Given the description of an element on the screen output the (x, y) to click on. 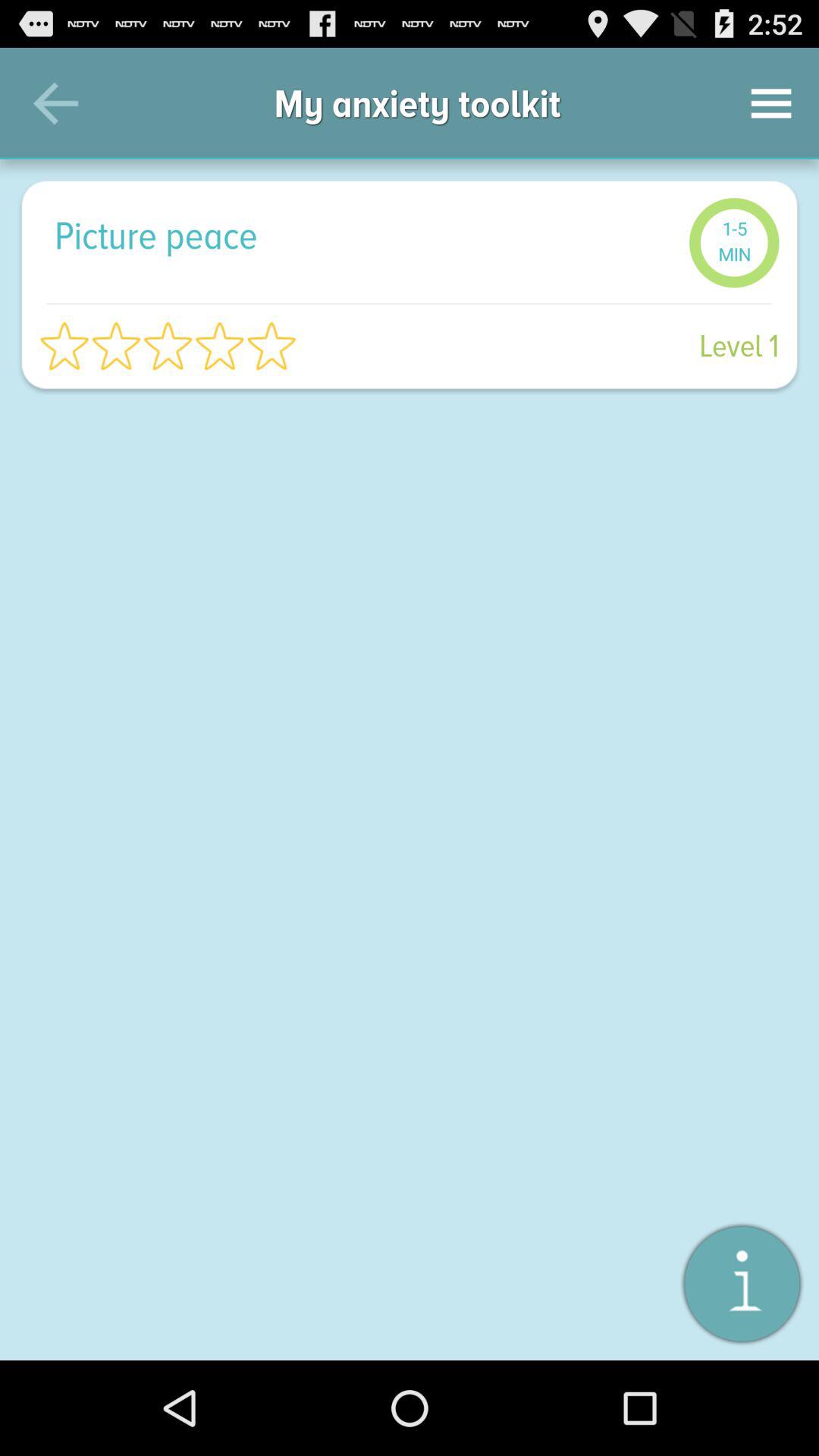
choose icon next to my anxiety toolkit (55, 103)
